Given the description of an element on the screen output the (x, y) to click on. 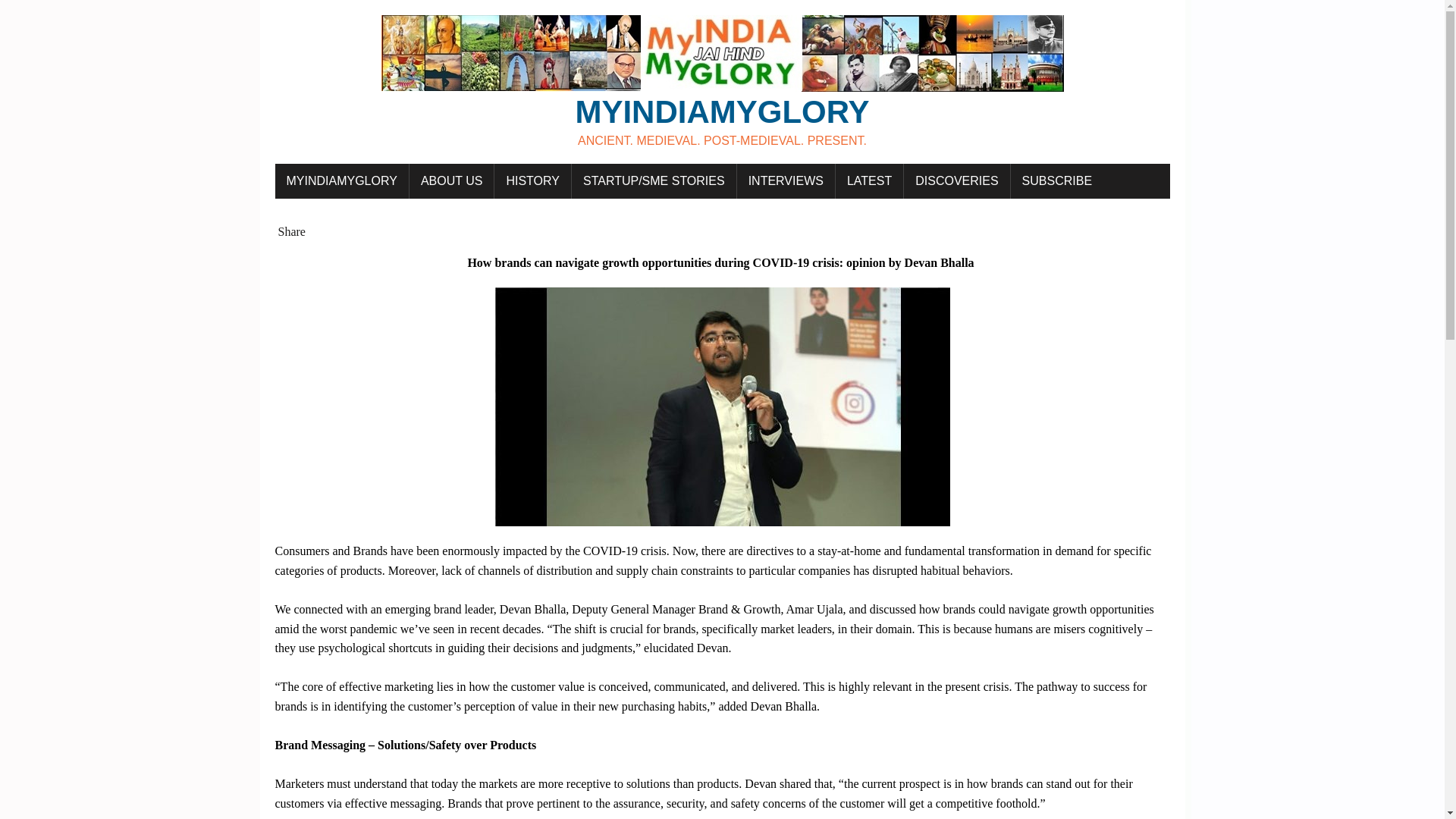
ABOUT US (452, 181)
Share (291, 232)
myIndiamyGlory (722, 81)
DISCOVERIES (956, 181)
LATEST (868, 181)
HISTORY (532, 181)
INTERVIEWS (785, 181)
MYINDIAMYGLORY (341, 181)
SUBSCRIBE (722, 81)
